Given the description of an element on the screen output the (x, y) to click on. 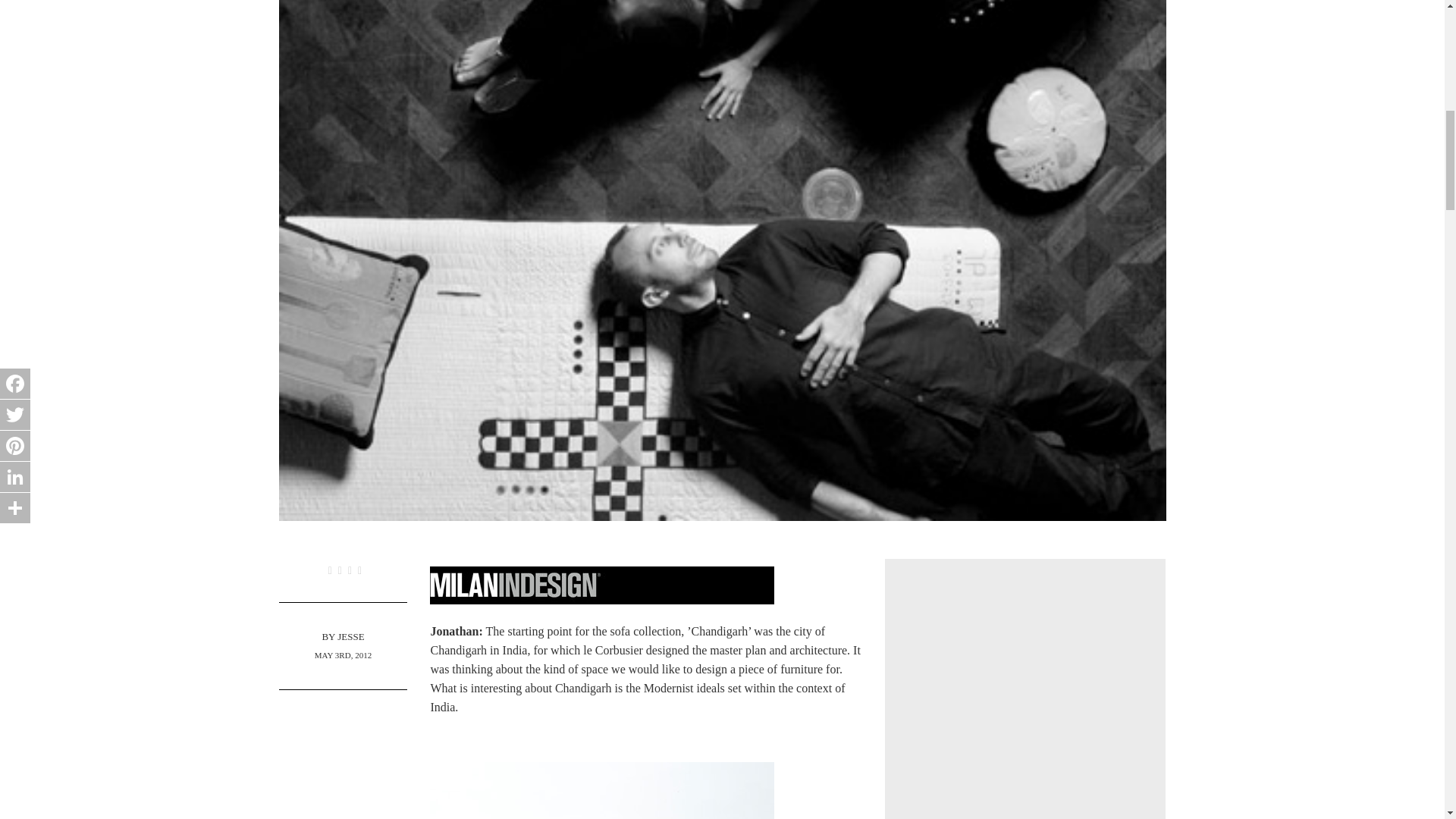
3rd party ad content (1024, 701)
Posts by jesse (350, 636)
